Given the description of an element on the screen output the (x, y) to click on. 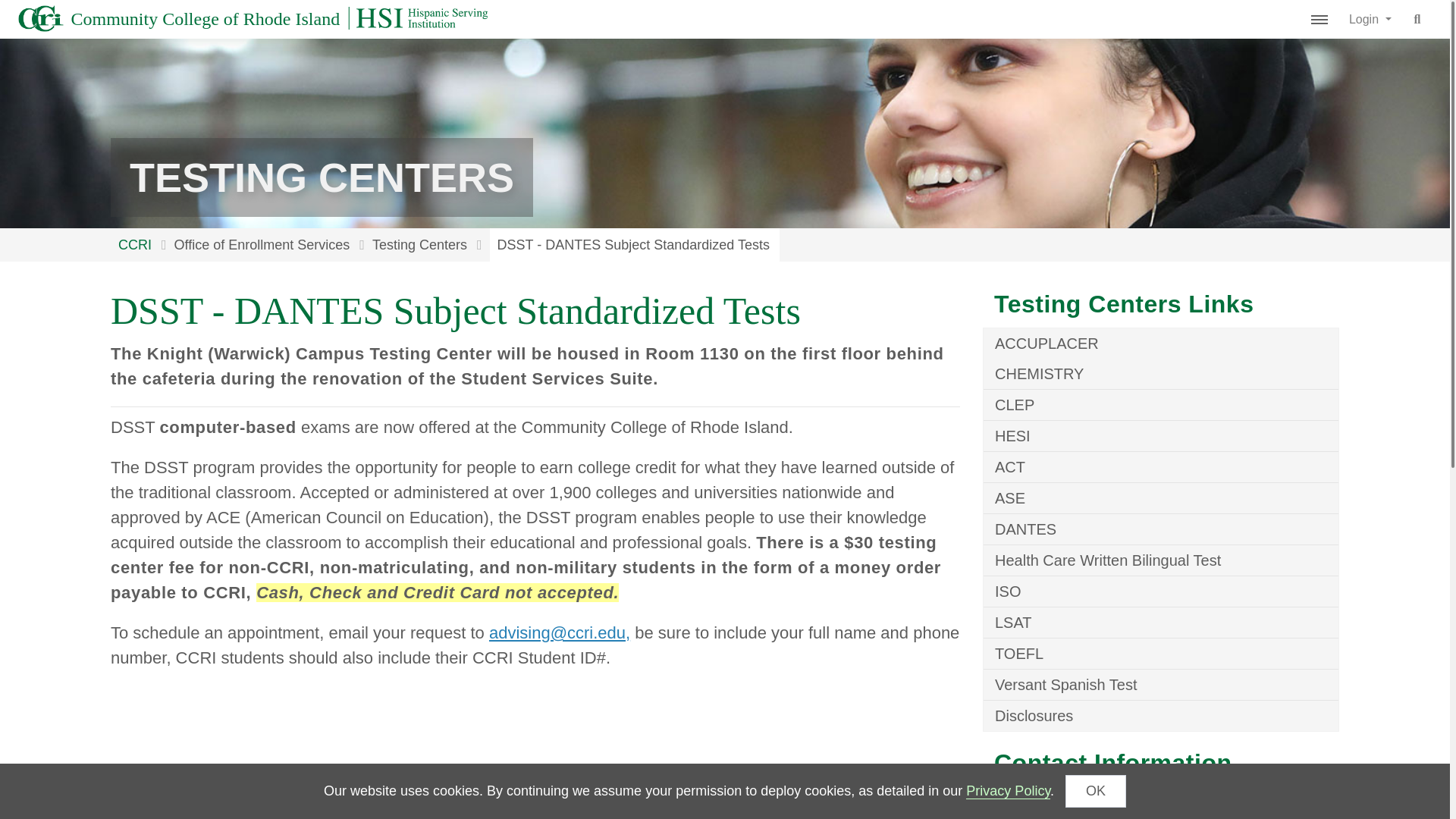
Community College of Rhode Island (178, 19)
Skip to Main Content (10, 11)
Hispanic-Serving Institution (419, 22)
